Given the description of an element on the screen output the (x, y) to click on. 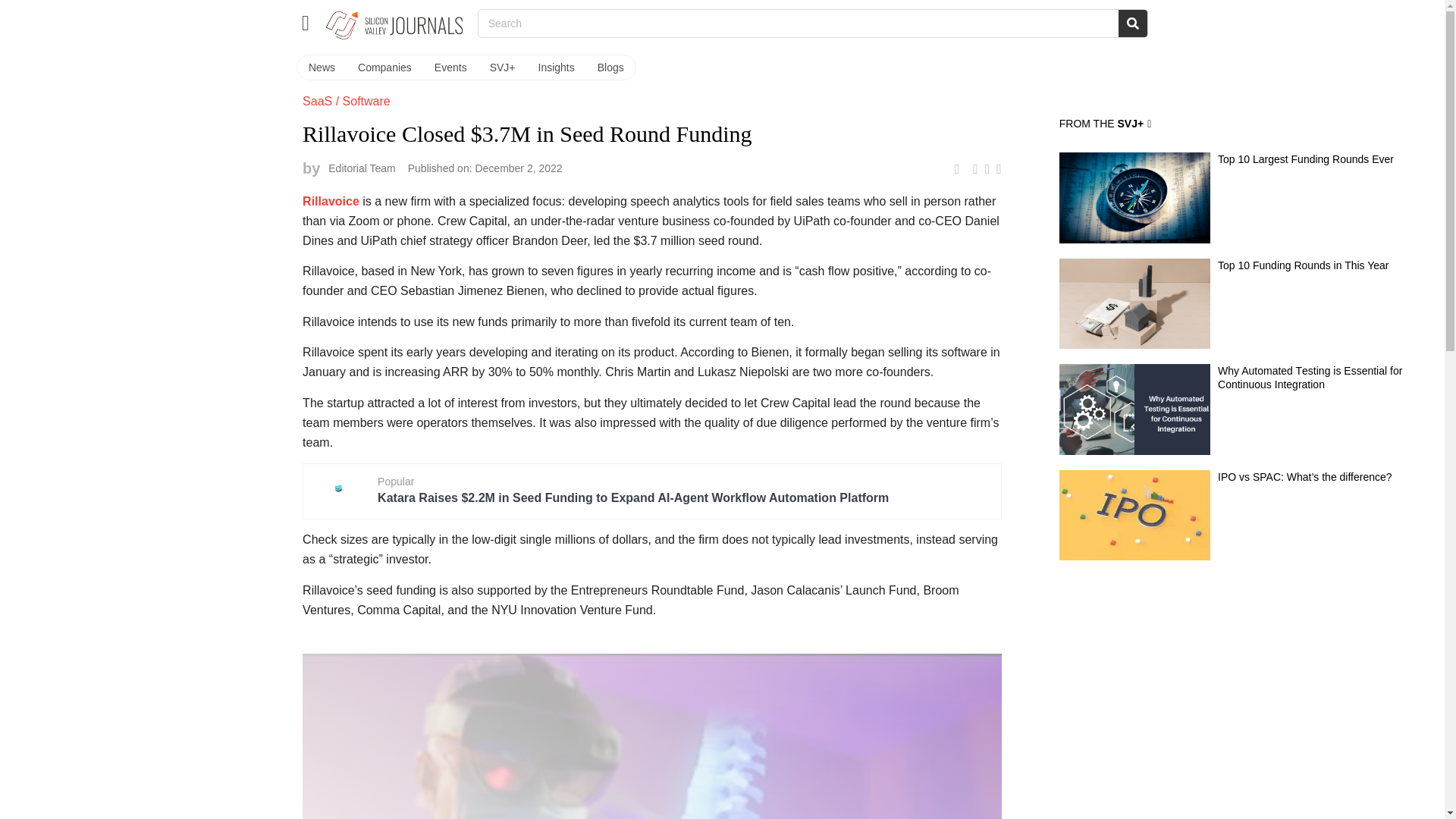
Companies (384, 67)
Search (798, 22)
Search (1132, 22)
News (321, 67)
Blogs (610, 67)
Insights (556, 67)
Events (451, 67)
